Given the description of an element on the screen output the (x, y) to click on. 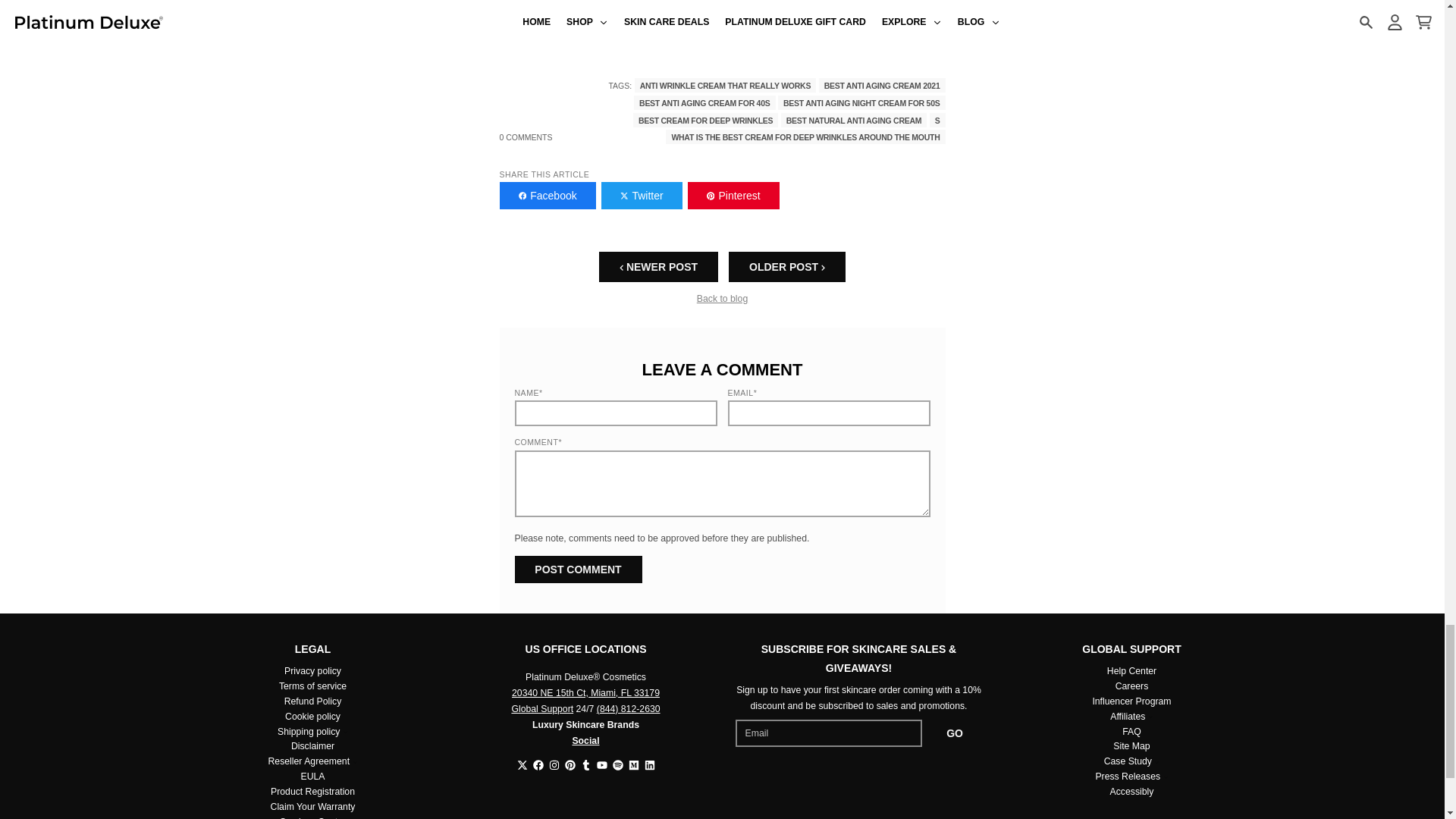
Tumblr - Platinum Deluxe Cosmetics (585, 765)
Post comment (577, 569)
Medium - Platinum Deluxe Cosmetics (633, 765)
YouTube - Platinum Deluxe Cosmetics (601, 765)
Twitter - Platinum Deluxe Cosmetics (521, 765)
Pinterest - Platinum Deluxe Cosmetics (569, 765)
LinkedIn - Platinum Deluxe Cosmetics (650, 765)
Instagram - Platinum Deluxe Cosmetics (553, 765)
Spotify - Platinum Deluxe Cosmetics (617, 765)
Facebook - Platinum Deluxe Cosmetics (537, 765)
